Given the description of an element on the screen output the (x, y) to click on. 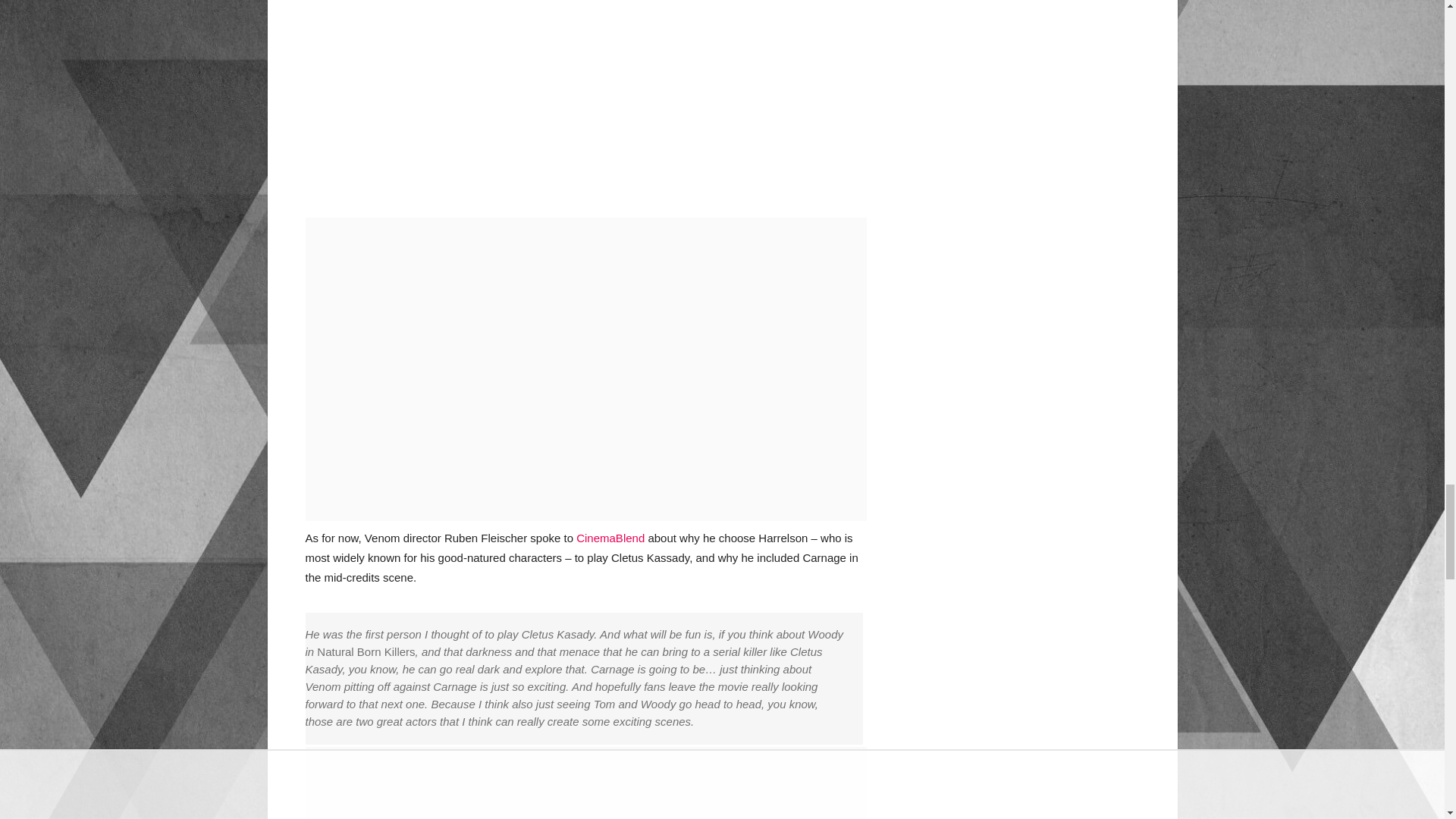
CinemaBlend (610, 537)
